Given the description of an element on the screen output the (x, y) to click on. 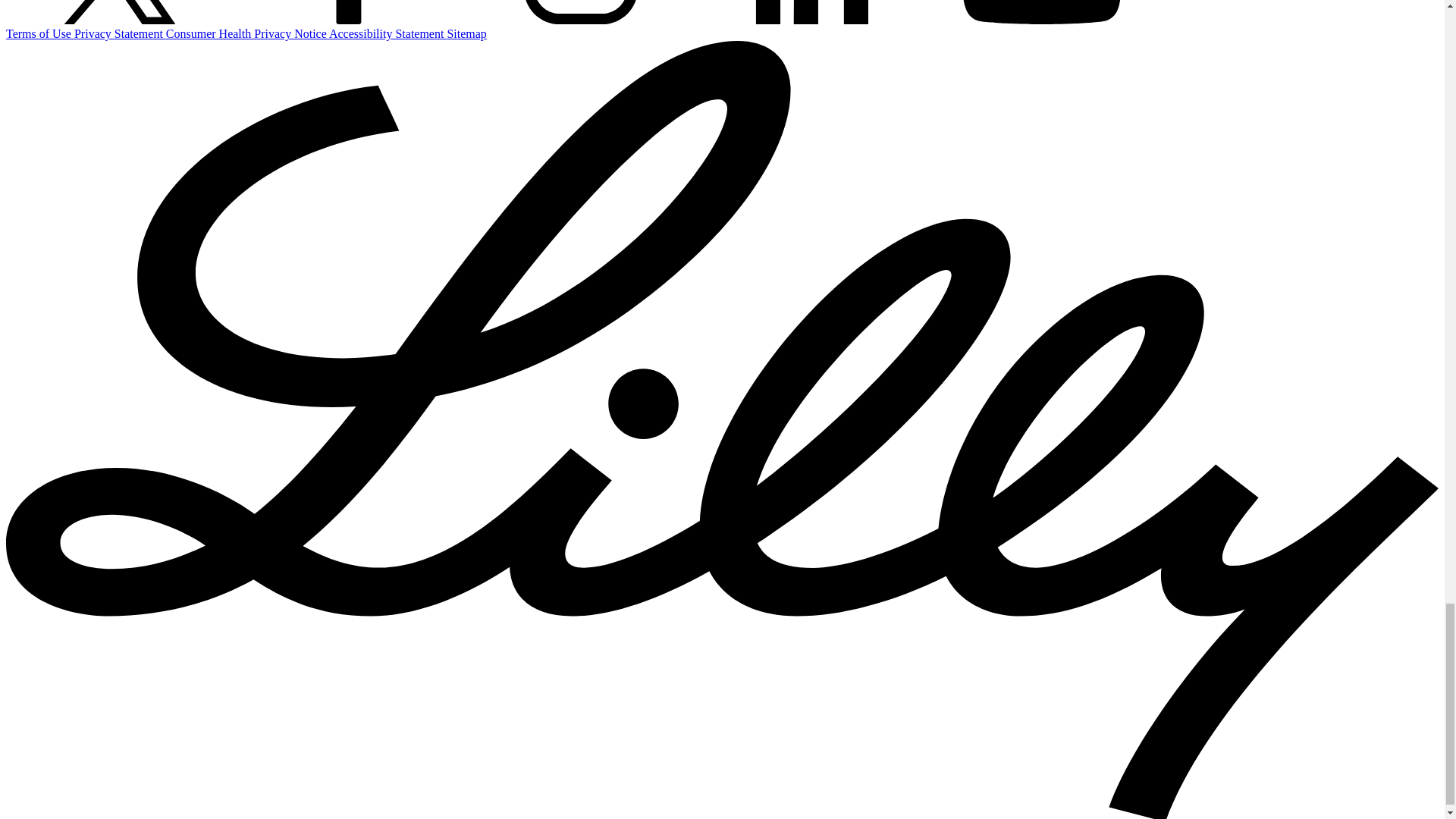
LinkedIn (810, 12)
Instagram (580, 12)
X (118, 12)
YouTube (1042, 12)
Facebook (349, 12)
